Given the description of an element on the screen output the (x, y) to click on. 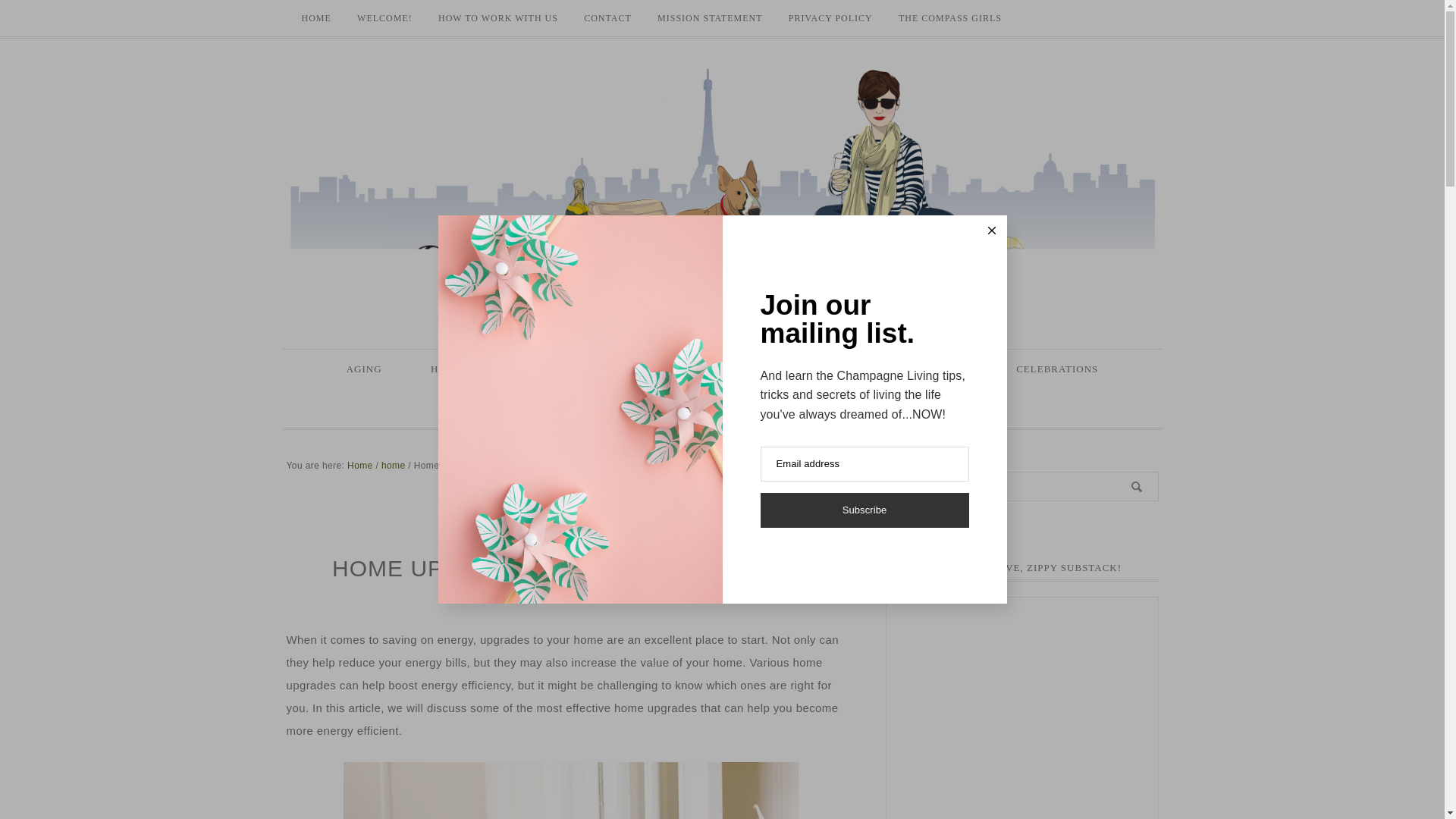
TRAVEL (829, 369)
WELCOME! (384, 18)
HOME (315, 18)
AGING (363, 369)
MISSION STATEMENT (709, 18)
PRIVACY POLICY (830, 18)
HOME (569, 528)
